Given the description of an element on the screen output the (x, y) to click on. 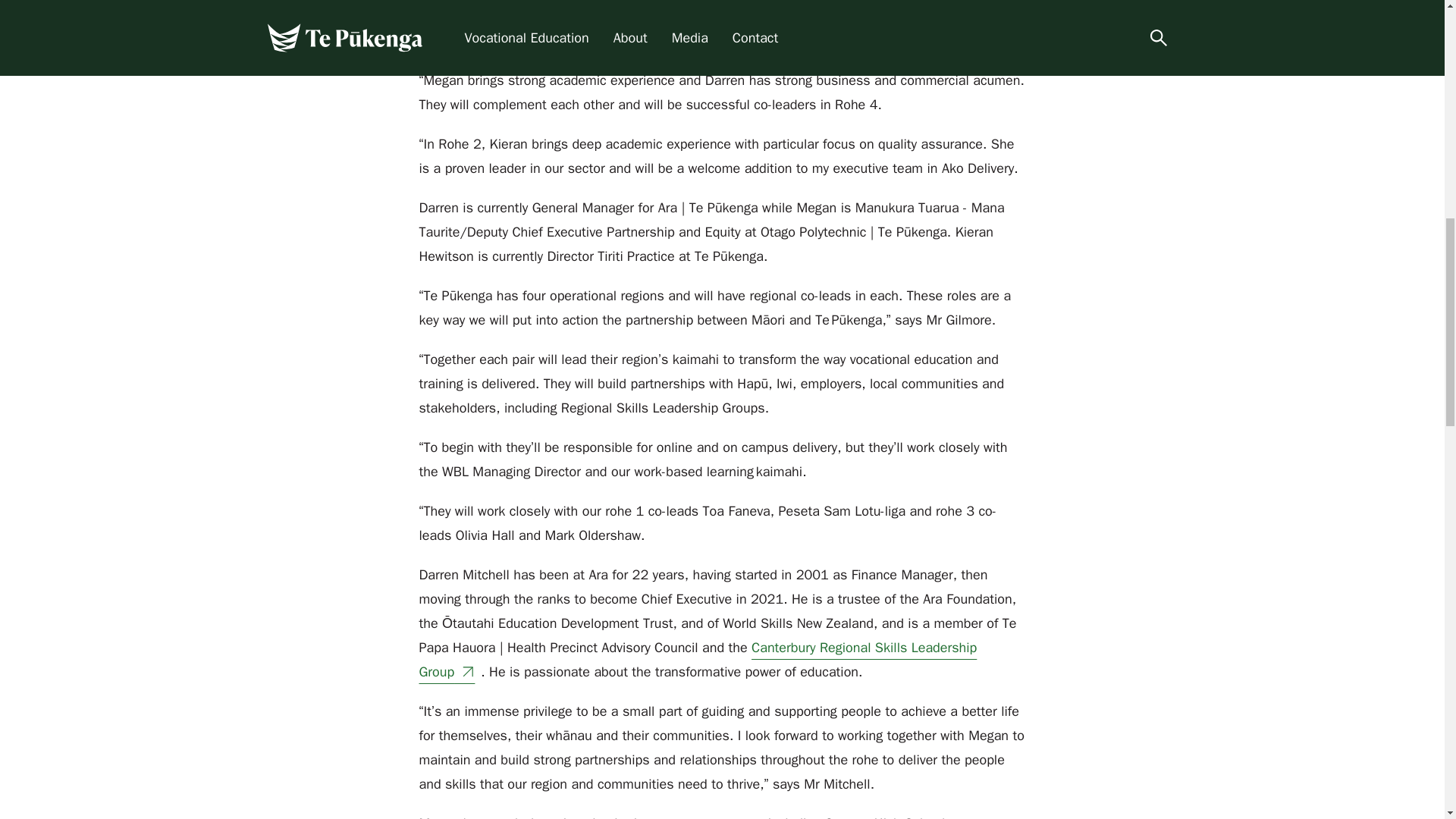
Canterbury Regional Skills Leadership Group (697, 659)
